Given the description of an element on the screen output the (x, y) to click on. 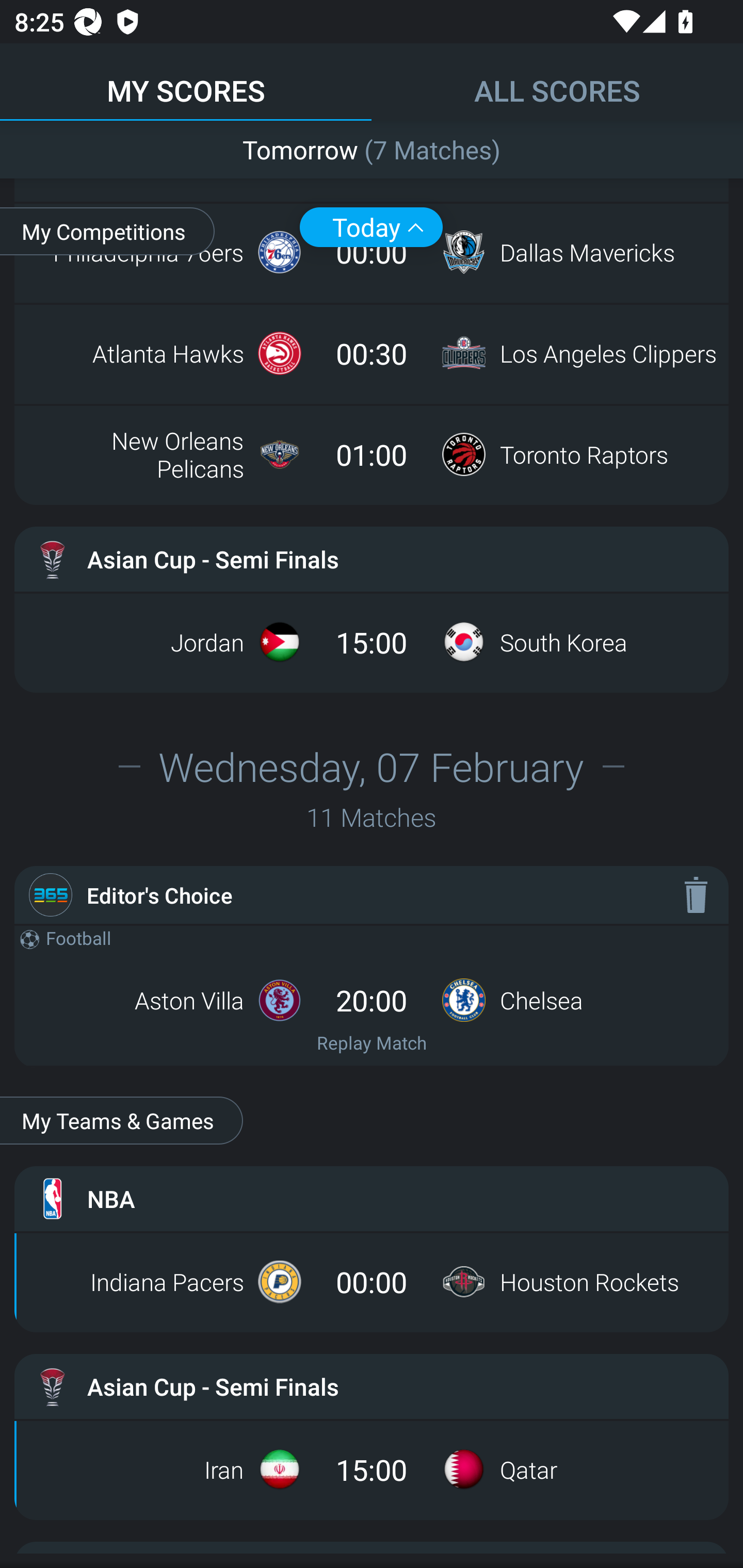
MY SCORES (185, 81)
ALL SCORES (557, 81)
Cleveland Cavaliers 00:00 Sacramento Kings (371, 161)
Philadelphia 76ers 00:00 Dallas Mavericks (371, 252)
Today (370, 226)
Atlanta Hawks 00:30 Los Angeles Clippers (371, 353)
New Orleans Pelicans 01:00 Toronto Raptors (371, 454)
Asian Cup - Semi Finals (371, 558)
Jordan 15:00 South Korea (371, 642)
Football Aston Villa 20:00 Chelsea Replay Match (371, 995)
My Teams & Games (121, 1120)
NBA (371, 1198)
Indiana Pacers 00:00 Houston Rockets (371, 1281)
Asian Cup - Semi Finals (371, 1386)
Iran 15:00 Qatar (371, 1469)
